Given the description of an element on the screen output the (x, y) to click on. 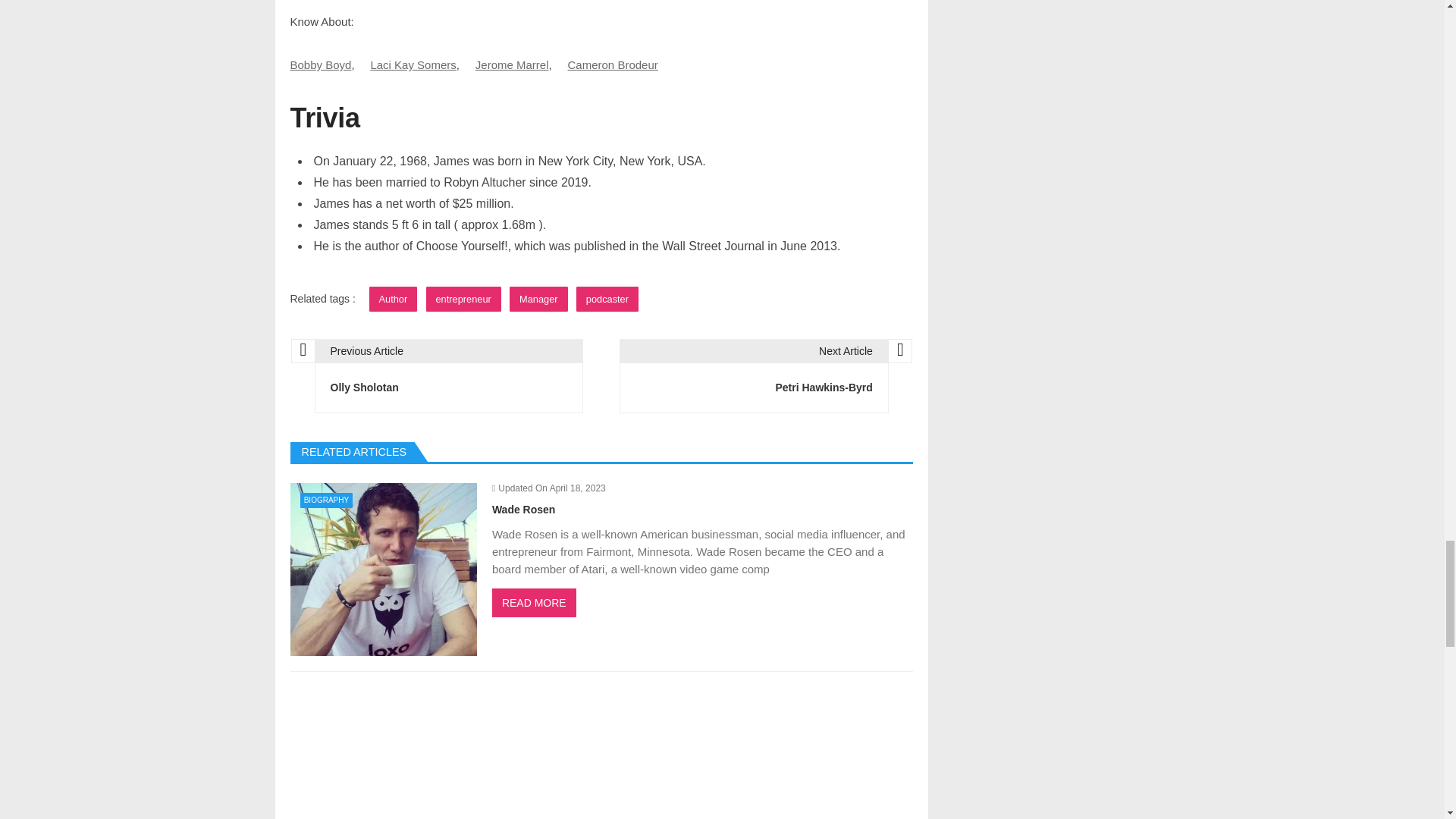
Bobby Boyd (319, 64)
Wade Rosen (382, 569)
Laci Kay Somers (412, 64)
Jerome Marrel (512, 64)
